Given the description of an element on the screen output the (x, y) to click on. 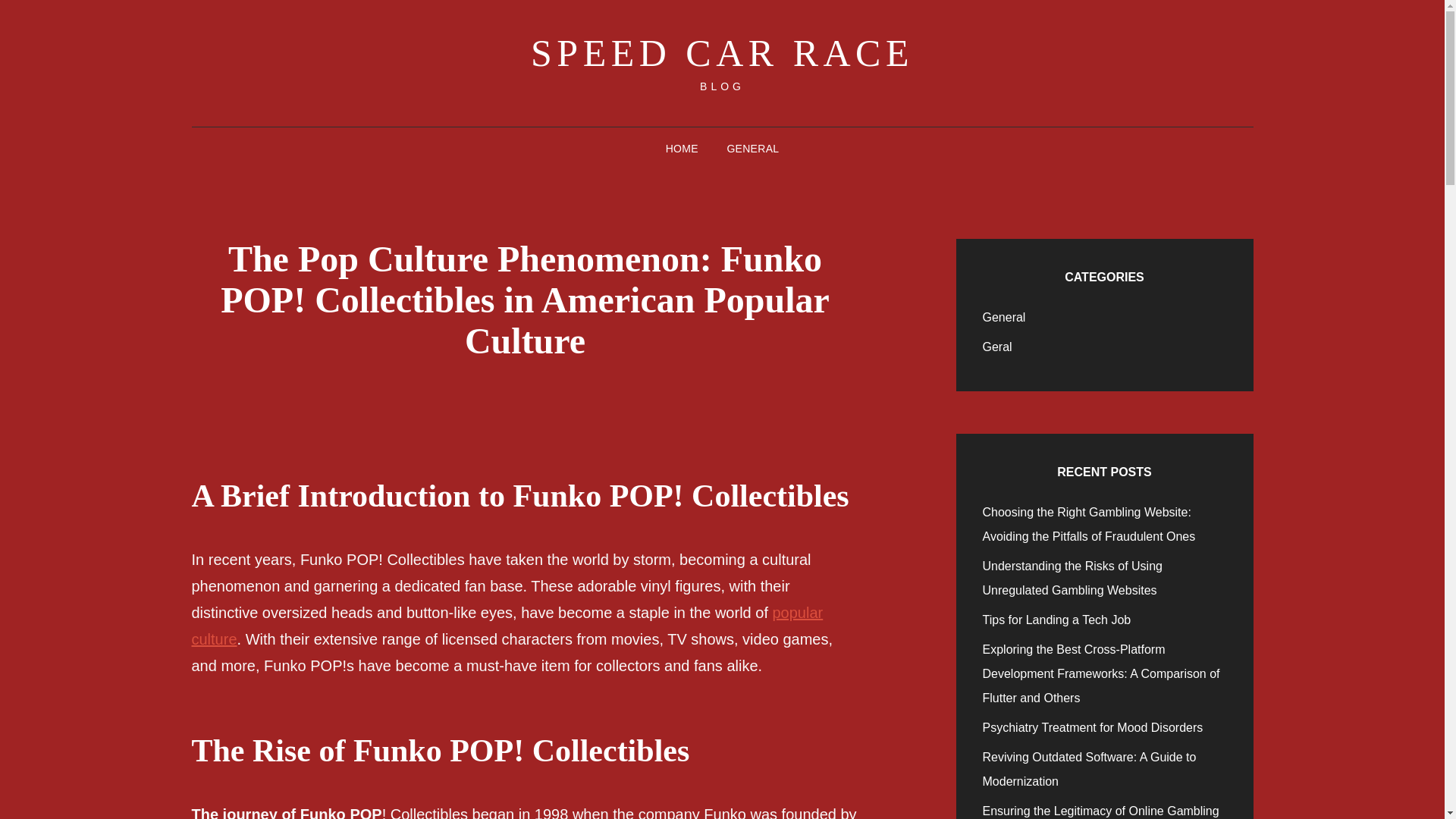
Reviving Outdated Software: A Guide to Modernization (1089, 769)
HOME (681, 148)
GENERAL (752, 148)
Geral (996, 346)
SPEED CAR RACE (722, 52)
Psychiatry Treatment for Mood Disorders (1093, 727)
Ensuring the Legitimacy of Online Gambling Platforms (1101, 811)
Tips for Landing a Tech Job (1056, 619)
